Given the description of an element on the screen output the (x, y) to click on. 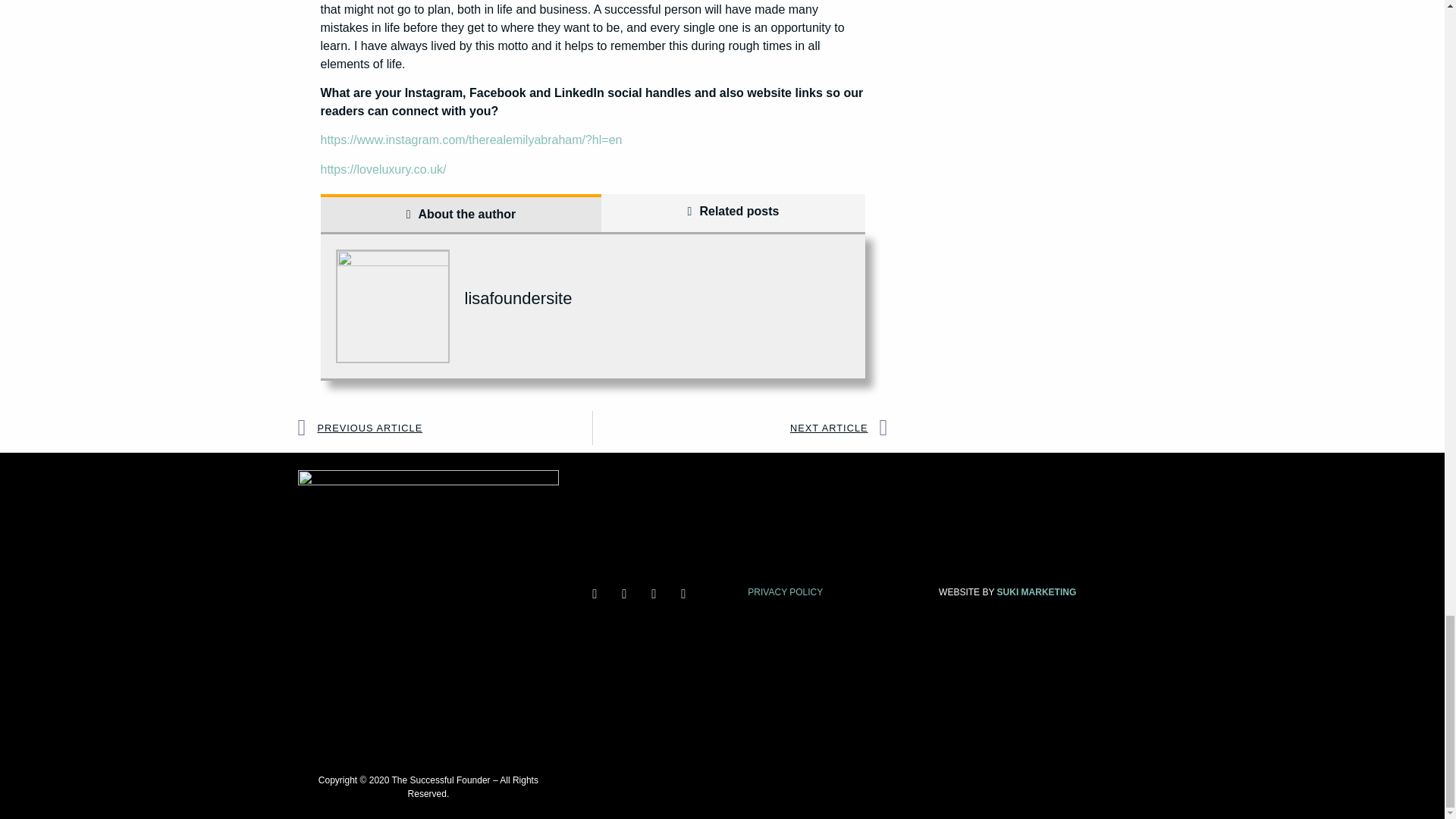
lisafoundersite (518, 298)
